Given the description of an element on the screen output the (x, y) to click on. 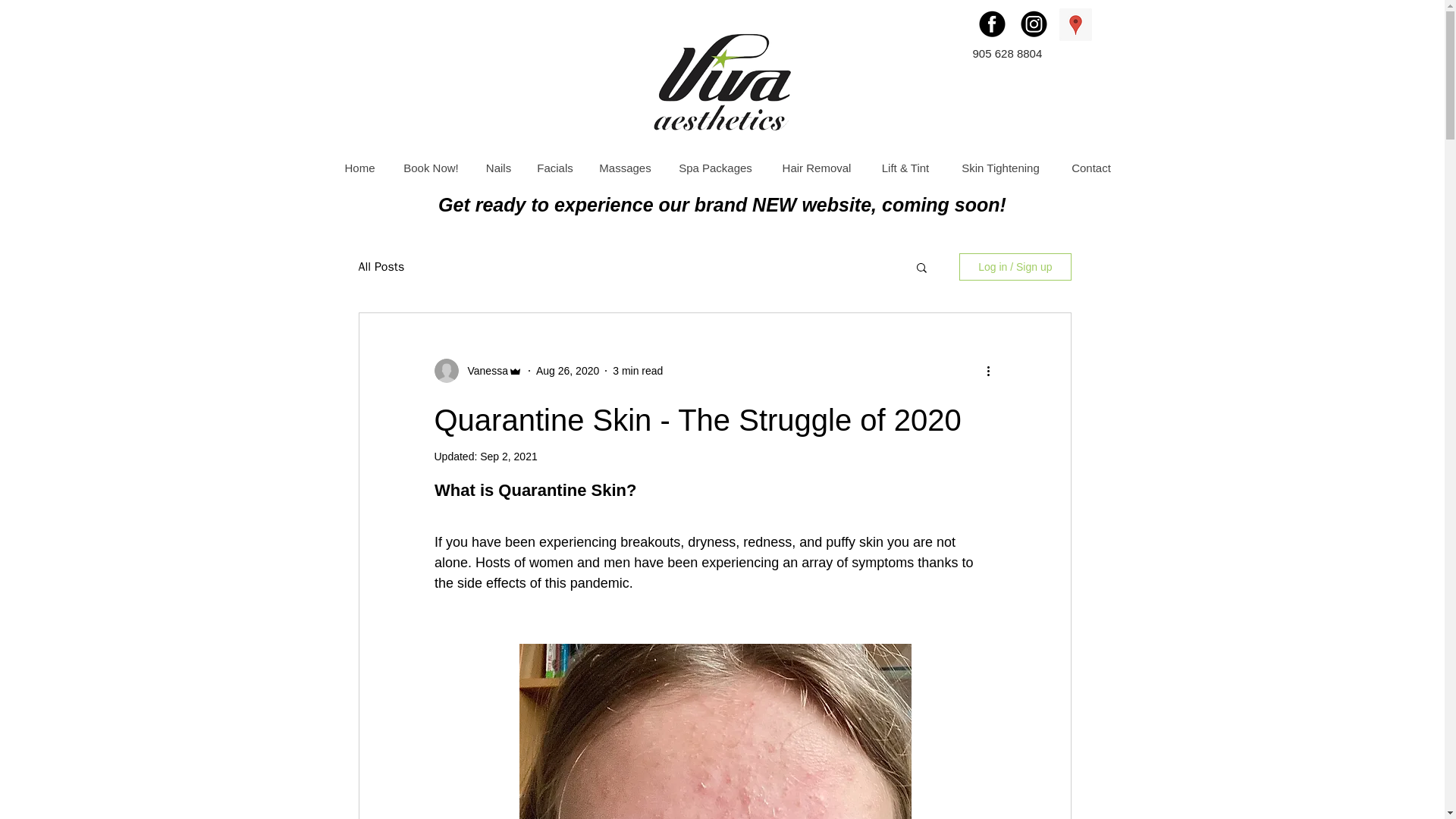
Home (359, 167)
Sep 2, 2021 (508, 456)
Spa Packages (715, 167)
Facials (553, 167)
Massages (624, 167)
3 min read (637, 369)
Book Now! (429, 167)
All Posts (381, 267)
Hair Removal (815, 167)
Vanessa (482, 370)
